Given the description of an element on the screen output the (x, y) to click on. 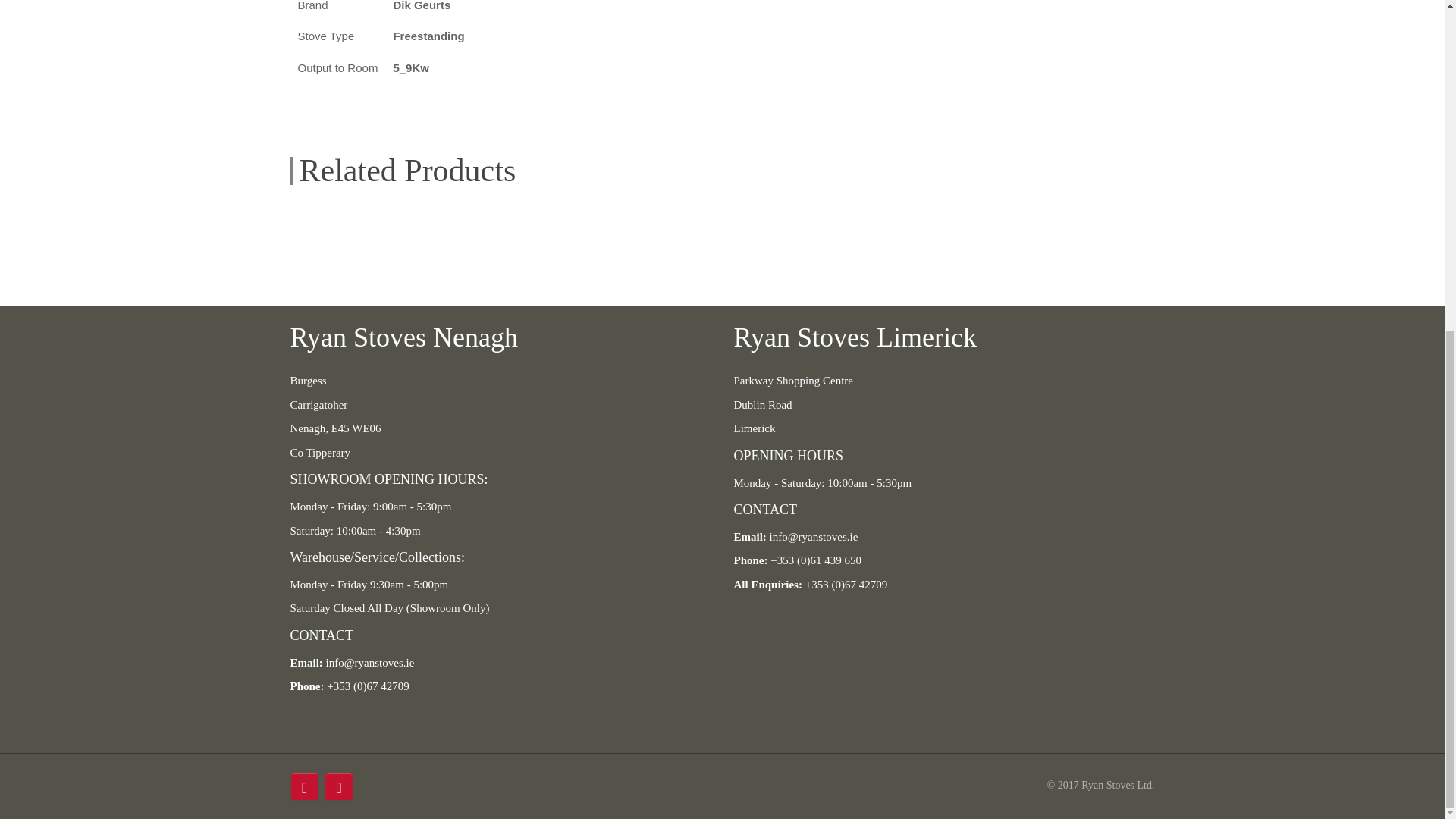
Twitter (338, 786)
Facebook (304, 786)
